Given the description of an element on the screen output the (x, y) to click on. 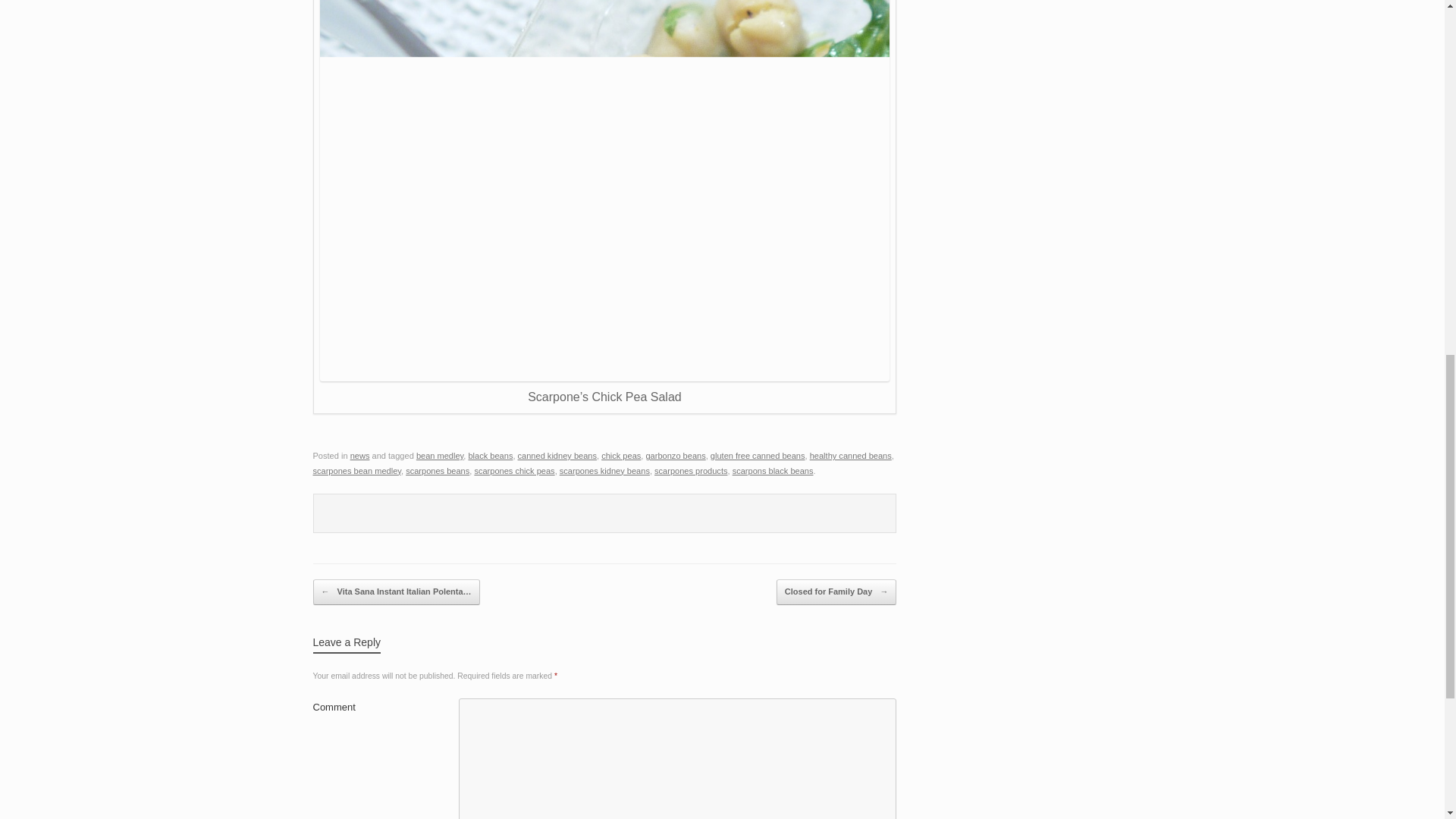
scarpones chick peas (514, 470)
scarpones kidney beans (604, 470)
chick peas (620, 455)
gluten free canned beans (757, 455)
scarpones products (689, 470)
canned kidney beans (557, 455)
garbonzo beans (674, 455)
scarpones beans (437, 470)
scarpones bean medley (356, 470)
black beans (489, 455)
news (359, 455)
bean medley (439, 455)
scarpons black beans (772, 470)
healthy canned beans (850, 455)
